Given the description of an element on the screen output the (x, y) to click on. 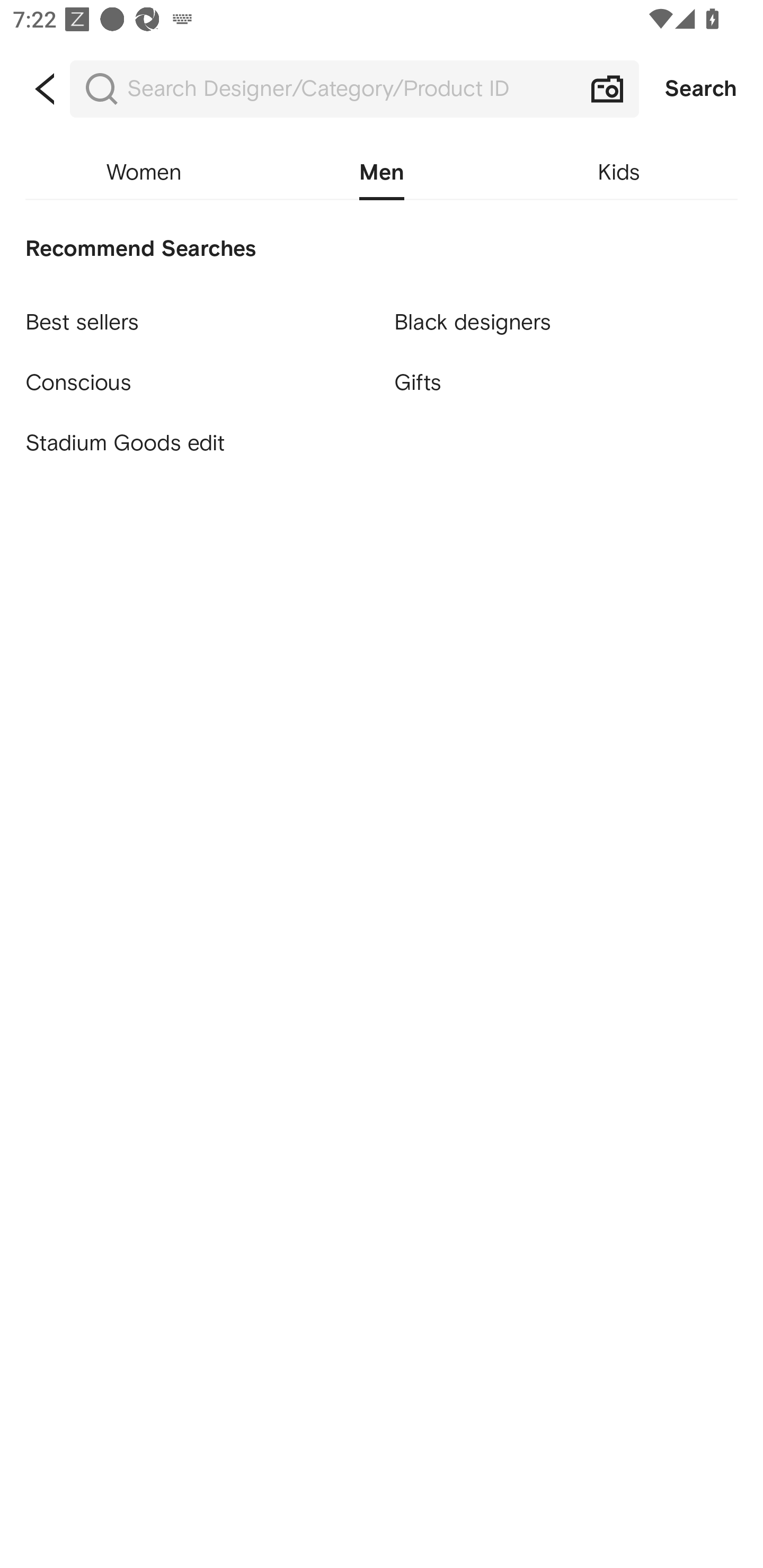
Search (701, 89)
Women (143, 172)
Kids (618, 172)
Best sellers (196, 313)
Black designers (565, 313)
Conscious (196, 374)
Gifts (565, 382)
Stadium Goods edit (196, 442)
